Given the description of an element on the screen output the (x, y) to click on. 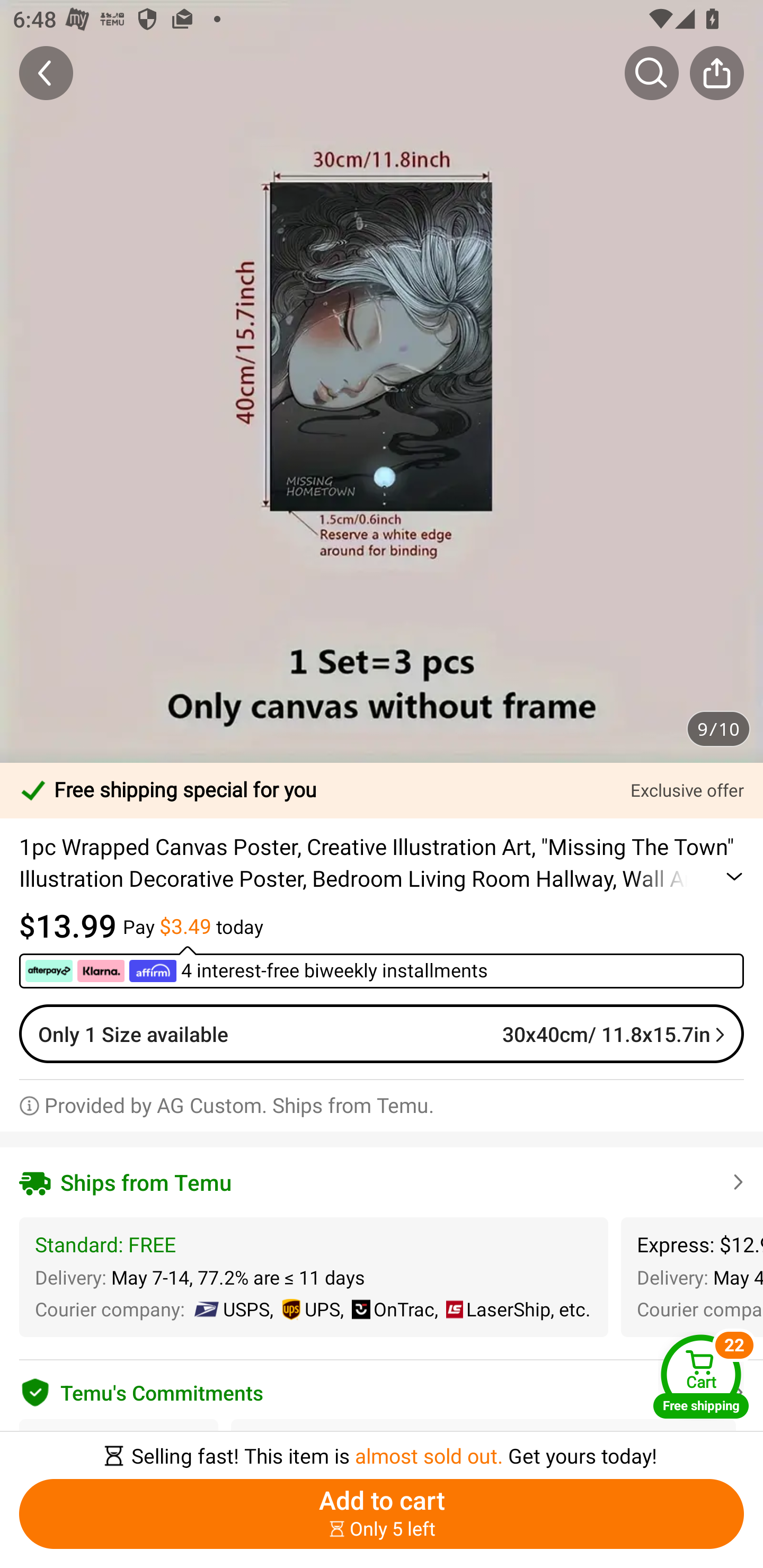
Back (46, 72)
Share (716, 72)
Free shipping special for you Exclusive offer (381, 790)
￼ ￼ ￼ 4 interest-free biweekly installments (381, 966)
Only 1 Size available 30x40cm/ 11.8x15.7in (381, 1034)
Ships from Temu (381, 1181)
Cart Free shipping Cart (701, 1375)
Temu's Commitments (381, 1390)
Add to cart ￼￼Only 5 left (381, 1513)
